Given the description of an element on the screen output the (x, y) to click on. 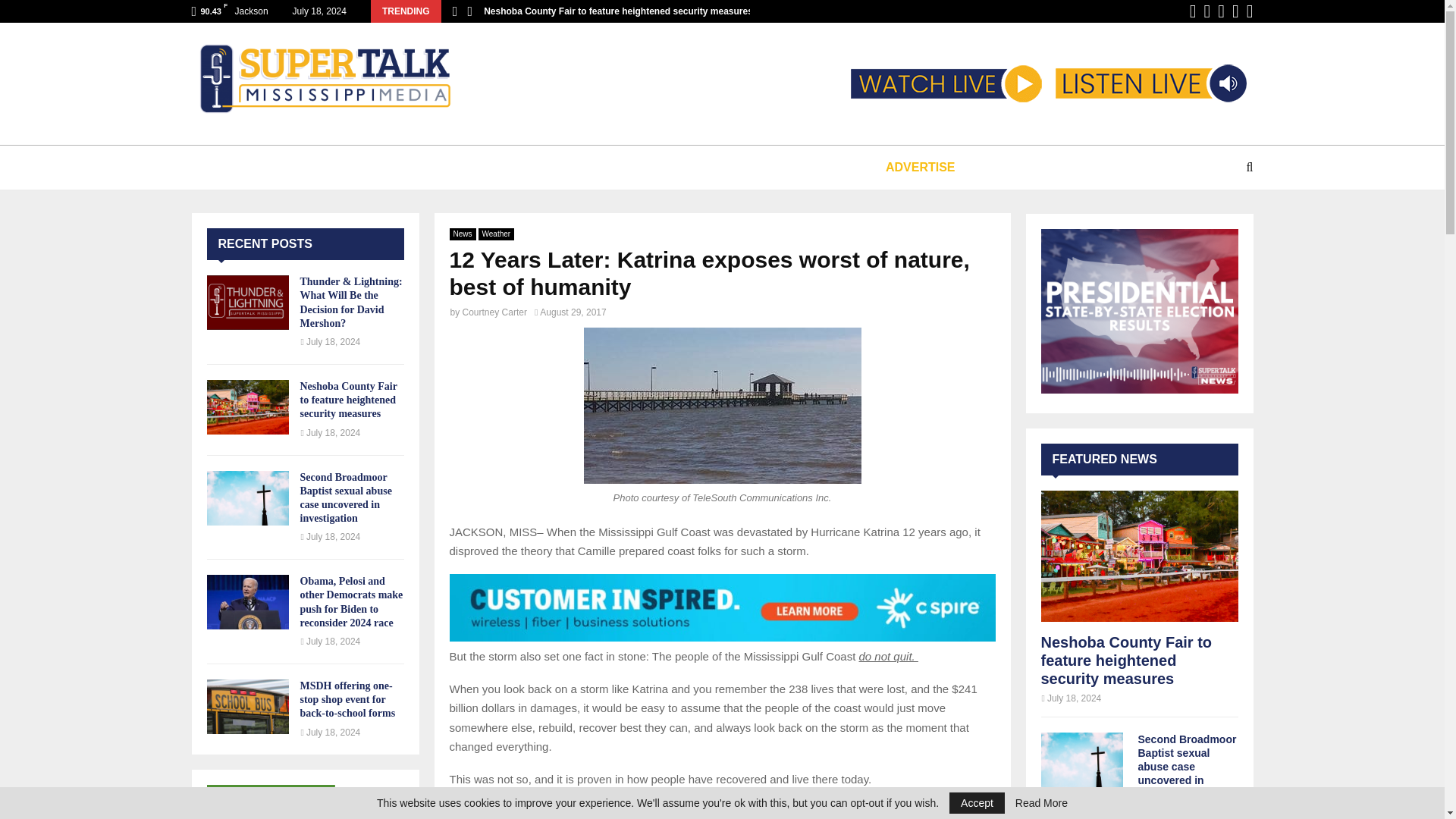
STATIONS (345, 167)
TUNE IN (255, 167)
Neshoba County Fair to feature heightened security measures (617, 10)
Neshoba County Fair to feature heightened security measures (247, 407)
